Given the description of an element on the screen output the (x, y) to click on. 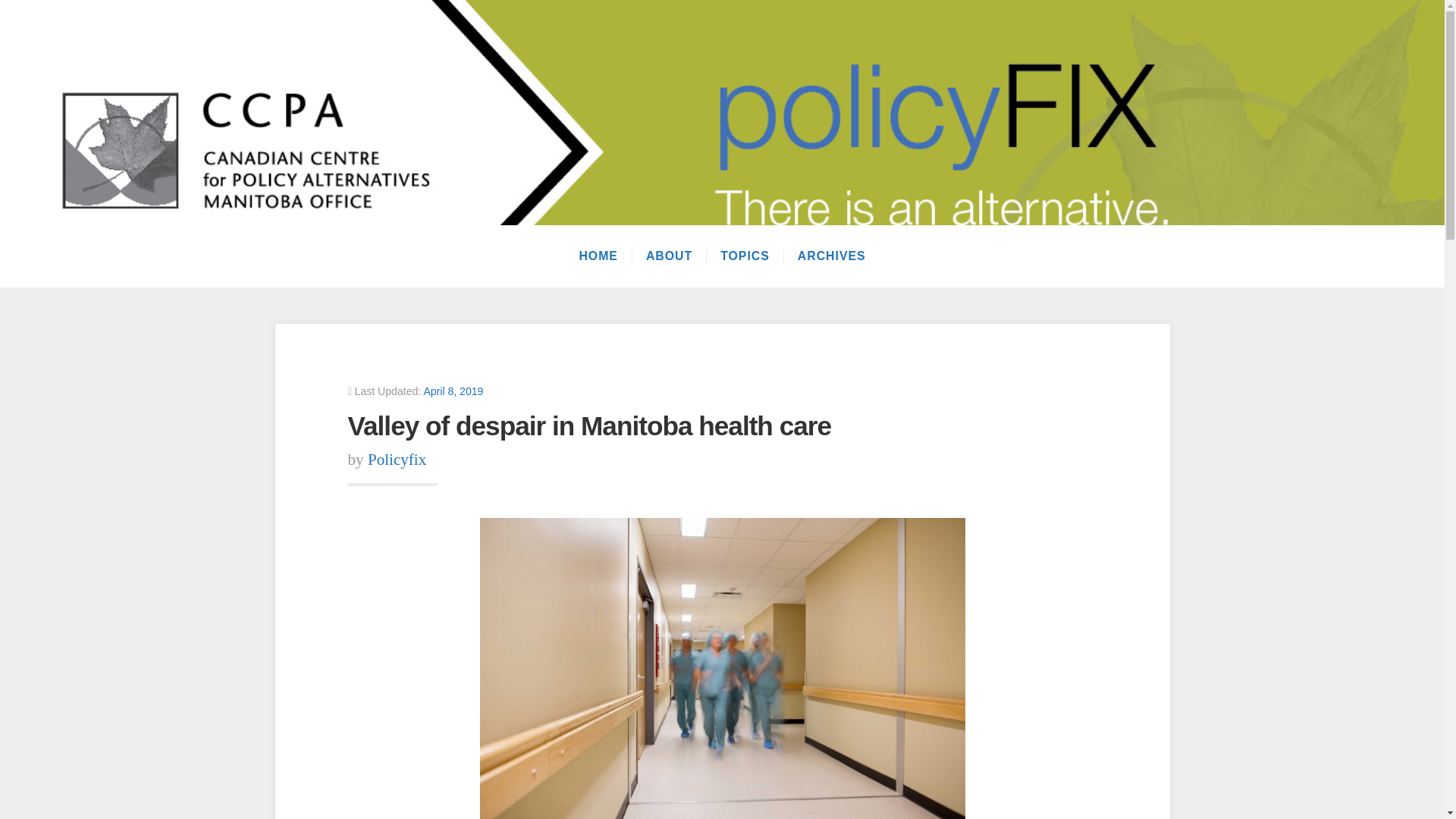
TOPICS (744, 255)
Posts by policyfix (397, 459)
ABOUT (668, 255)
7:59 pm (453, 390)
HOME (597, 255)
Policyfix (397, 459)
April 8, 2019 (453, 390)
ARCHIVES (831, 255)
